Given the description of an element on the screen output the (x, y) to click on. 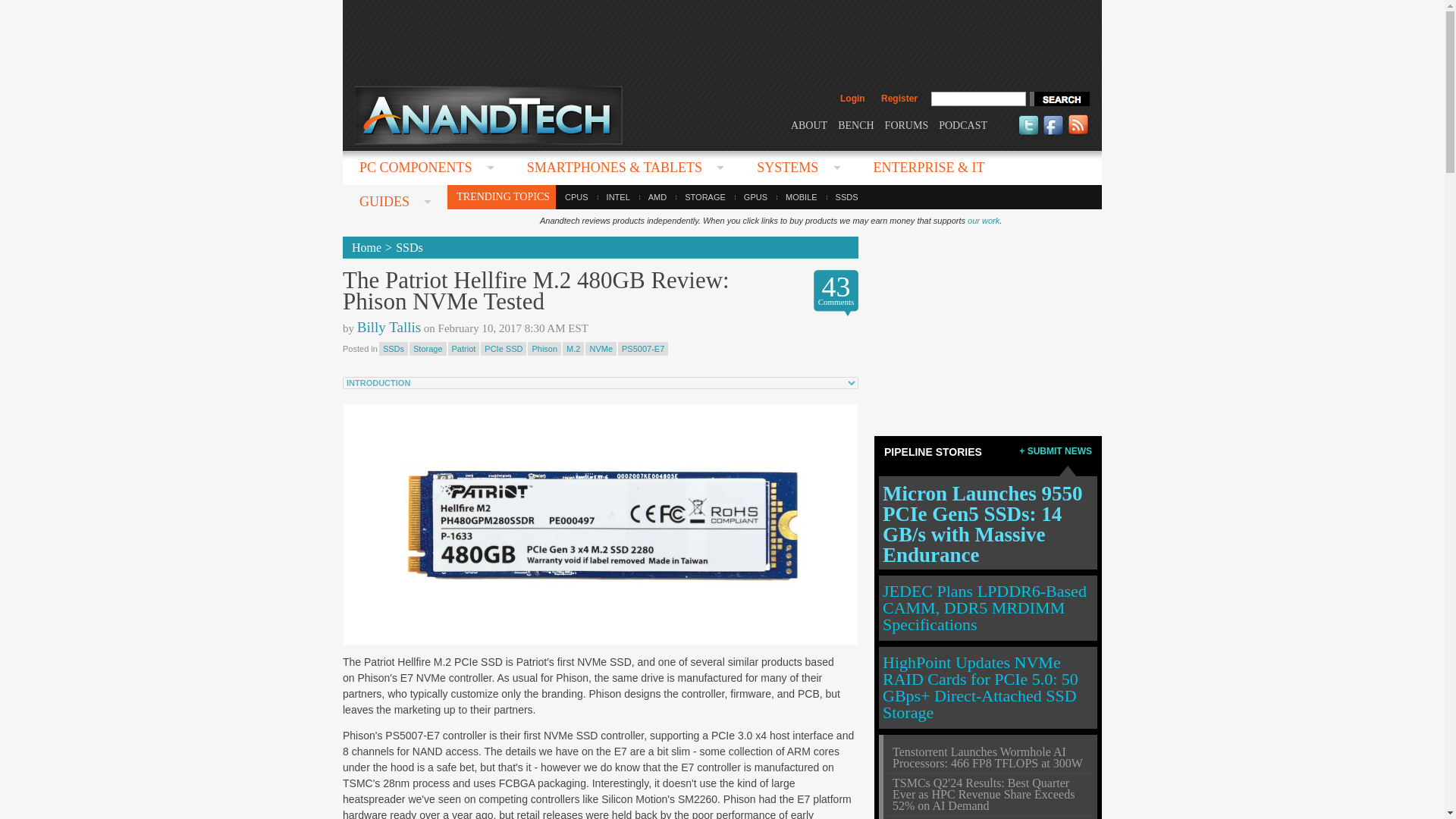
Login (852, 98)
ABOUT (808, 125)
search (1059, 98)
BENCH (855, 125)
search (1059, 98)
FORUMS (906, 125)
search (1059, 98)
PODCAST (963, 125)
Register (898, 98)
